Given the description of an element on the screen output the (x, y) to click on. 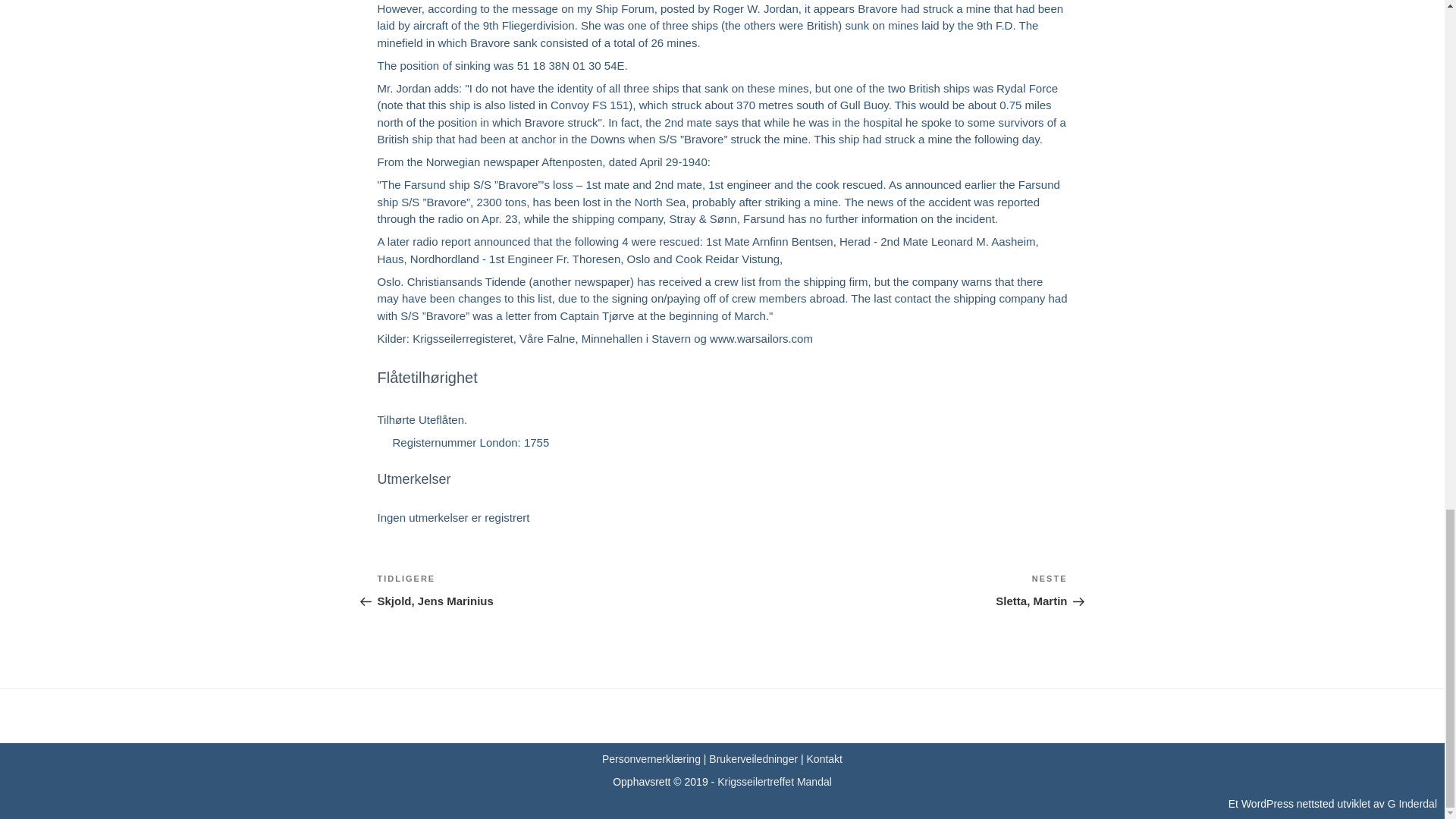
Krigsseilertreffet Mandal (549, 589)
G Inderdal (774, 781)
Brukerveiledninger (1412, 803)
Kontakt (894, 589)
